Given the description of an element on the screen output the (x, y) to click on. 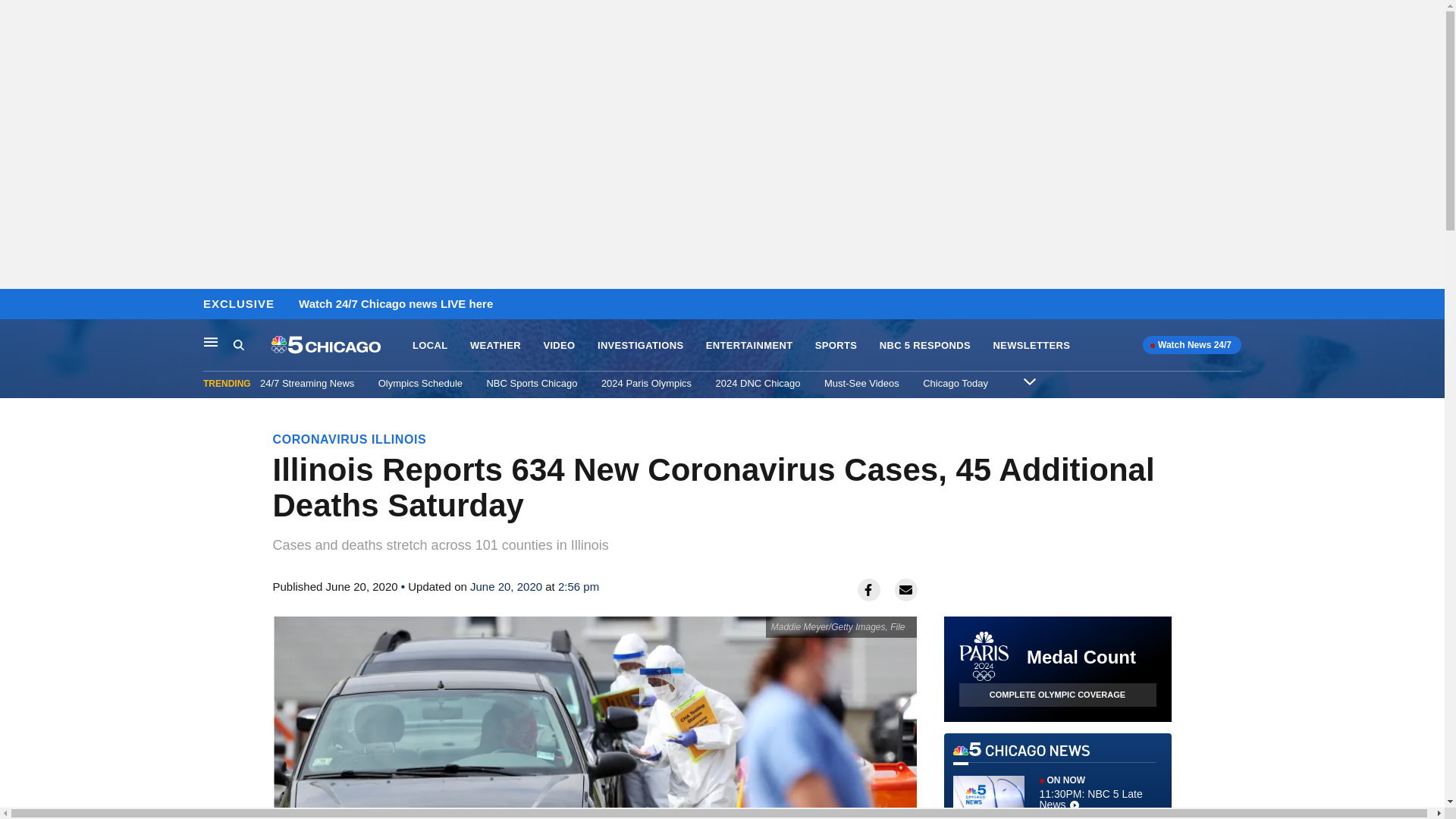
CORONAVIRUS ILLINOIS (349, 439)
LOCAL (429, 345)
ENTERTAINMENT (749, 345)
Search (252, 345)
NEWSLETTERS (1031, 345)
2024 Paris Olympics (646, 383)
Main Navigation (1056, 780)
Must-See Videos (210, 341)
NBC 5 RESPONDS (861, 383)
SPORTS (925, 345)
Search (836, 345)
WEATHER (238, 344)
COMPLETE OLYMPIC COVERAGE (495, 345)
NBC Sports Chicago (1057, 694)
